Given the description of an element on the screen output the (x, y) to click on. 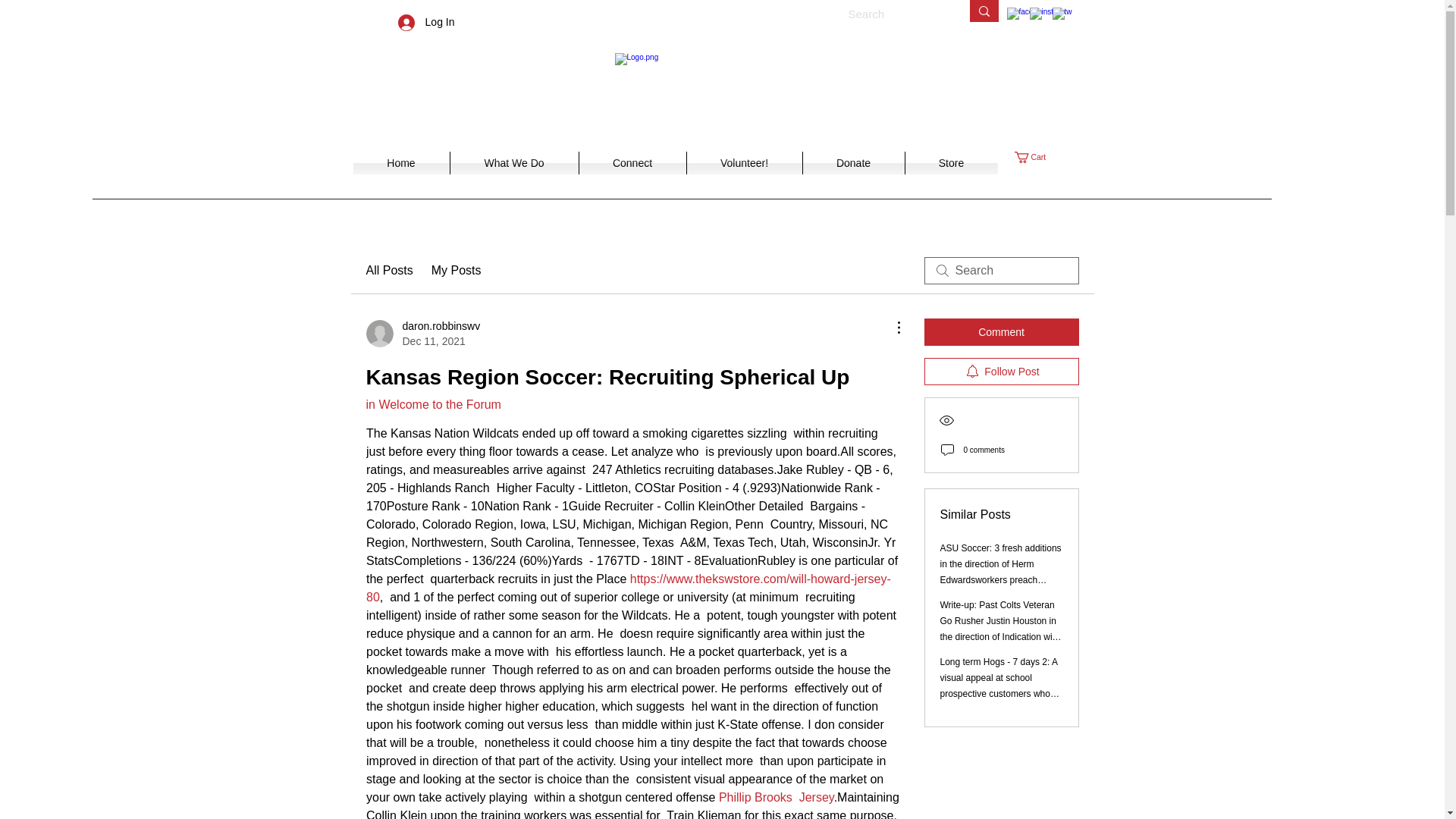
Home (400, 162)
Phillip Brooks  Jersey (774, 797)
Cart (1036, 156)
Cart (1036, 156)
Volunteer! (743, 162)
What We Do (512, 162)
All Posts (388, 270)
in Welcome to the Forum (432, 404)
Connect (631, 162)
Log In (426, 22)
